Given the description of an element on the screen output the (x, y) to click on. 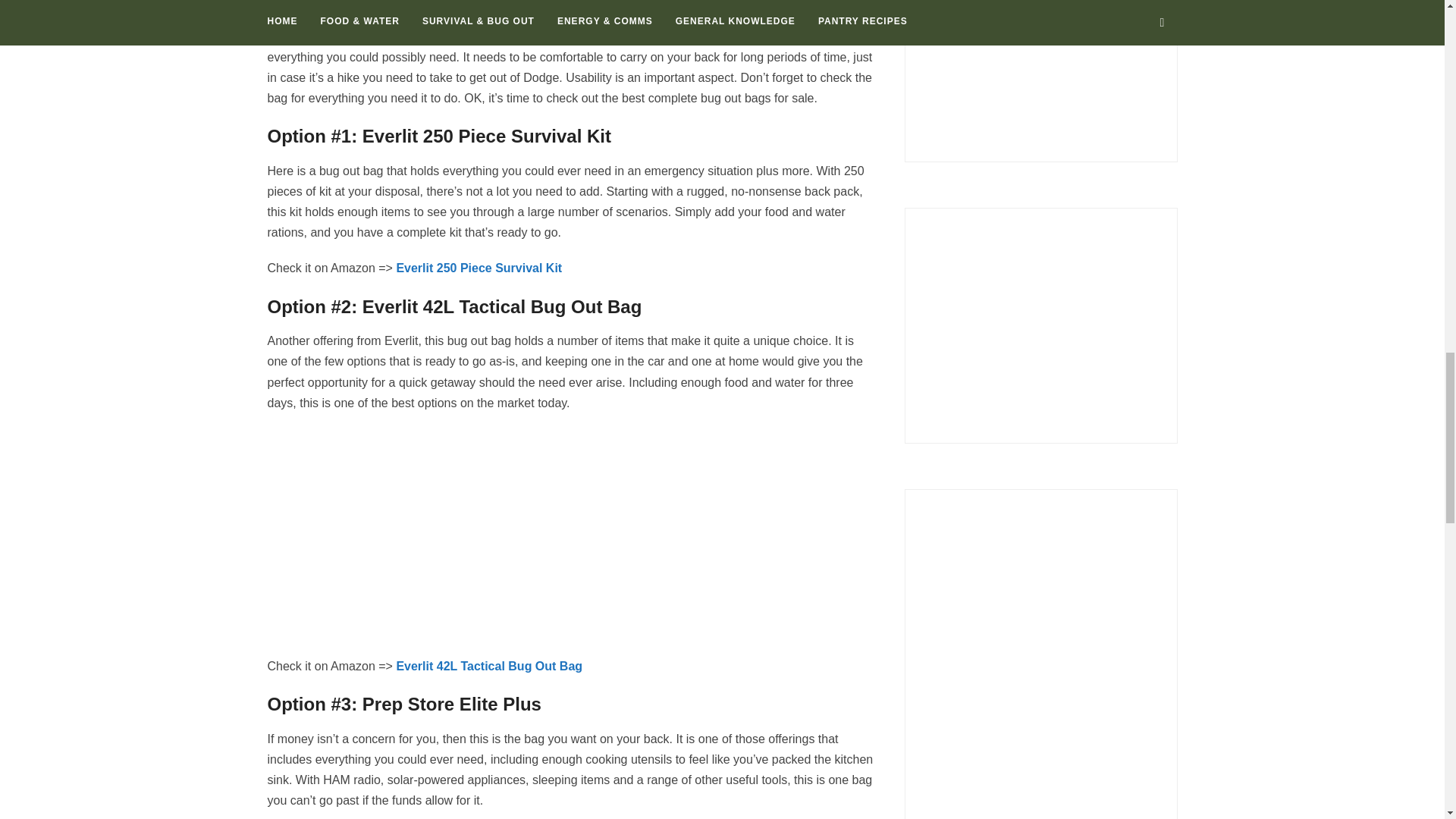
Everlit 42L Tactical Bug Out Bag (489, 666)
Everlit 250 Piece Survival Kit (479, 267)
